Given the description of an element on the screen output the (x, y) to click on. 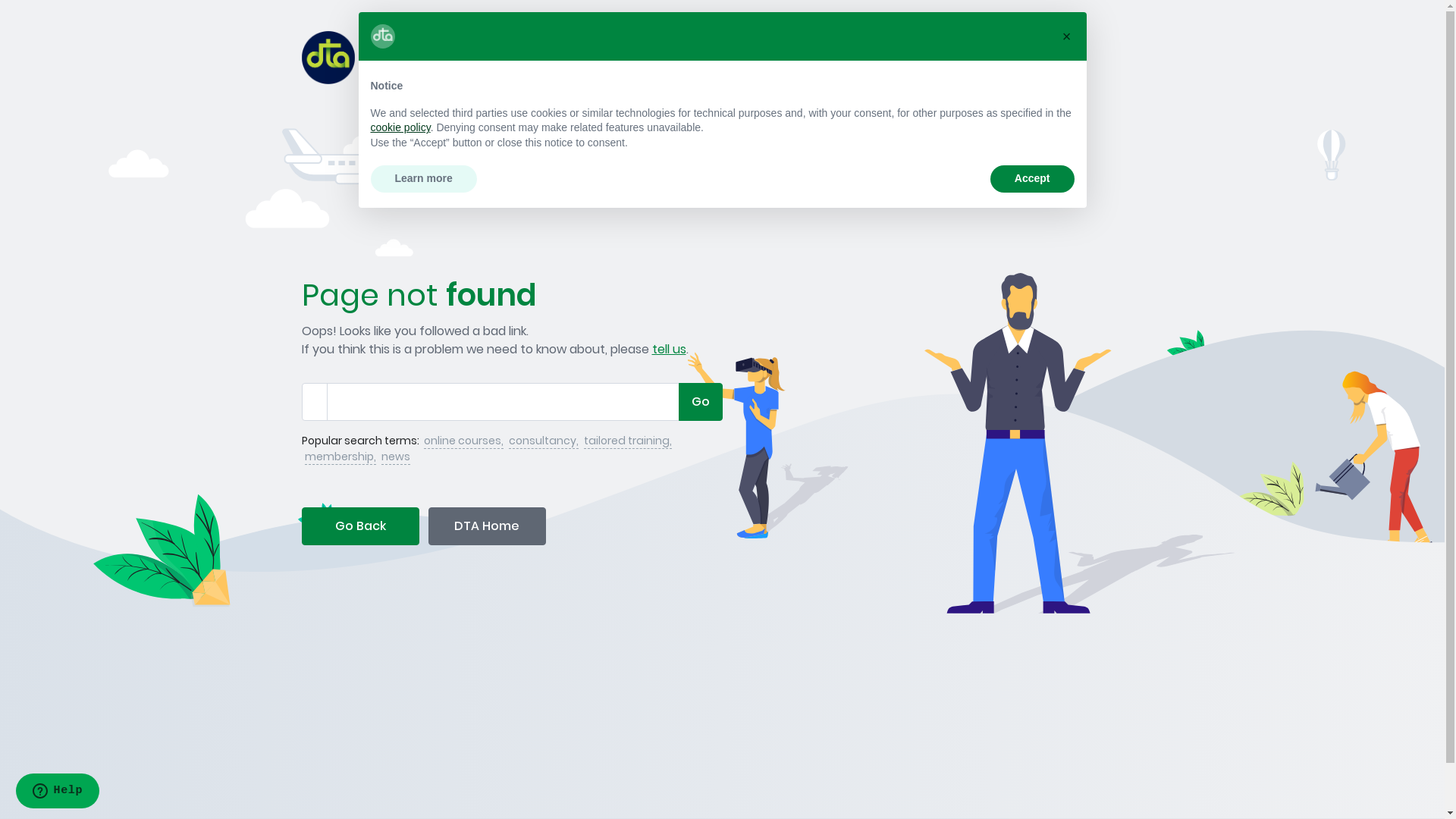
membership, Element type: text (340, 456)
Go Element type: text (699, 401)
Opens a widget where you can find more information Element type: hover (57, 792)
Go Back Element type: text (360, 526)
Accept Element type: text (1032, 178)
tell us Element type: text (669, 348)
DTA Home Element type: text (486, 526)
cookie policy Element type: text (399, 127)
online courses, Element type: text (462, 440)
tailored training, Element type: text (627, 440)
Learn more Element type: text (423, 178)
consultancy, Element type: text (542, 440)
news Element type: text (394, 456)
